Given the description of an element on the screen output the (x, y) to click on. 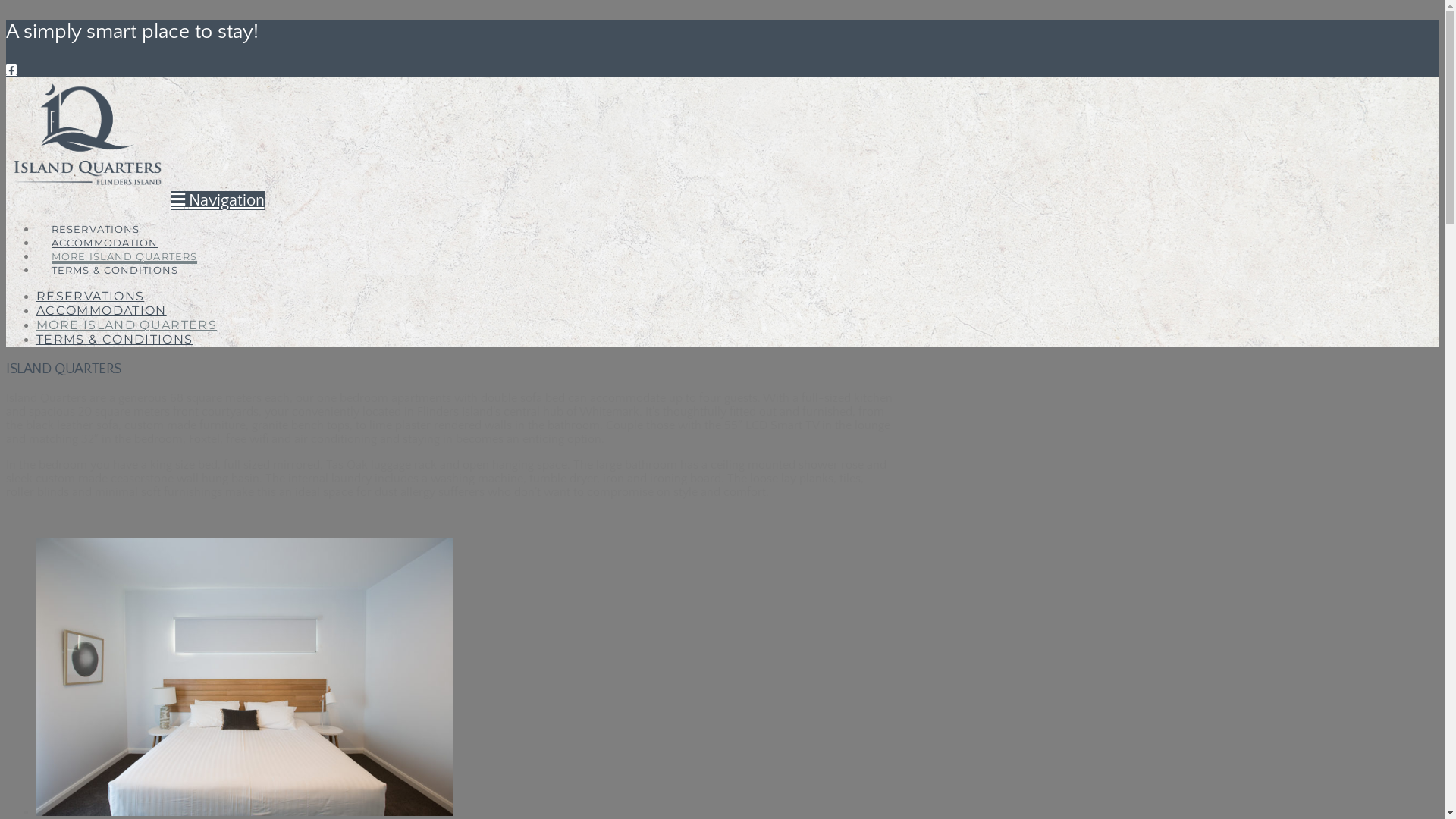
ACCOMMODATION Element type: text (104, 225)
MORE ISLAND QUARTERS Element type: text (126, 324)
RESERVATIONS Element type: text (90, 295)
Facebook Element type: hover (11, 70)
ACCOMMODATION Element type: text (101, 310)
MORE ISLAND QUARTERS Element type: text (123, 239)
TERMS & CONDITIONS Element type: text (114, 253)
RESERVATIONS Element type: text (94, 212)
TERMS & CONDITIONS Element type: text (114, 339)
Navigation Element type: text (216, 200)
